Given the description of an element on the screen output the (x, y) to click on. 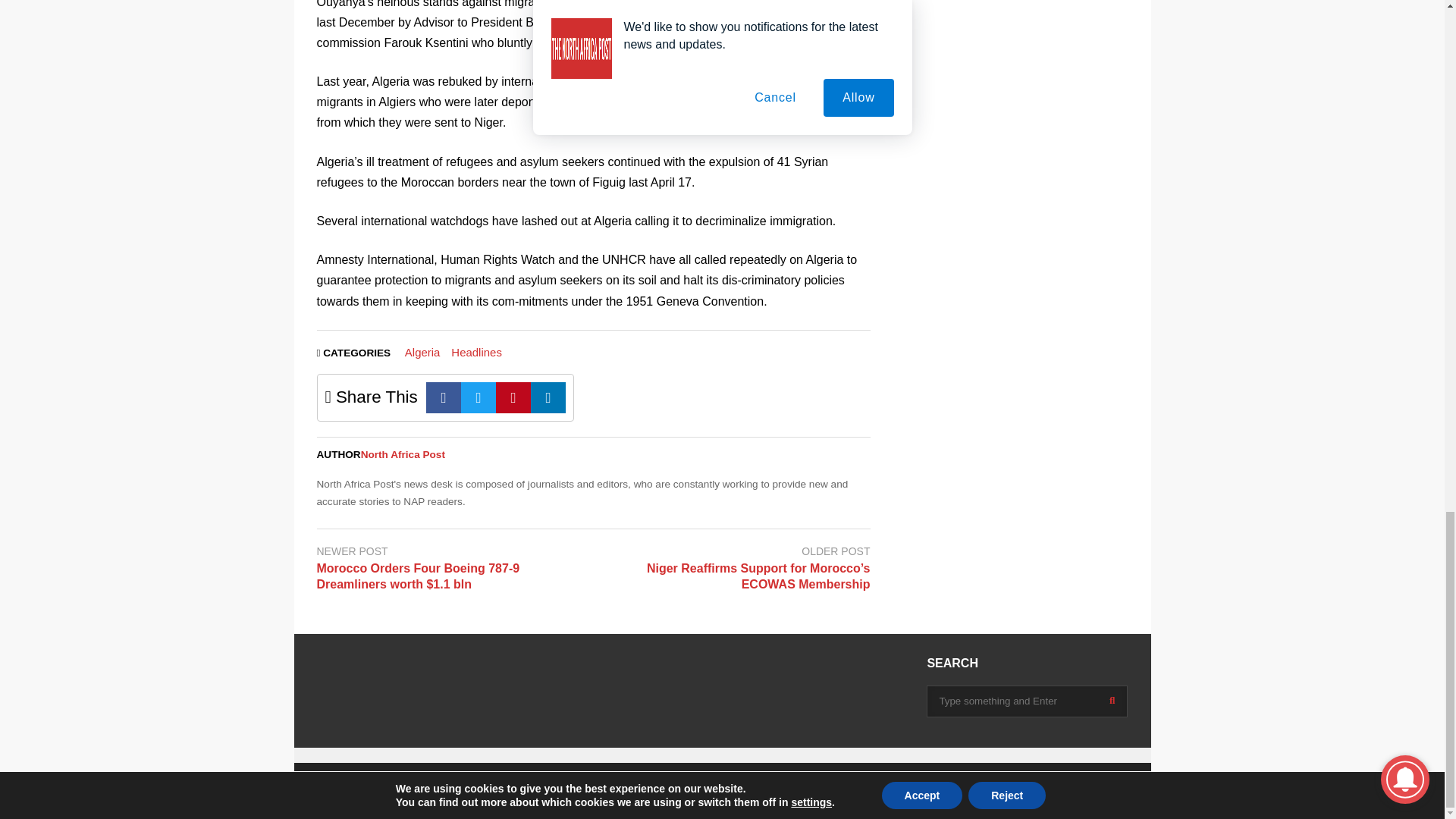
Twitter (478, 397)
Linkedin (548, 397)
Facebook (443, 397)
Pinterest (513, 397)
